Given the description of an element on the screen output the (x, y) to click on. 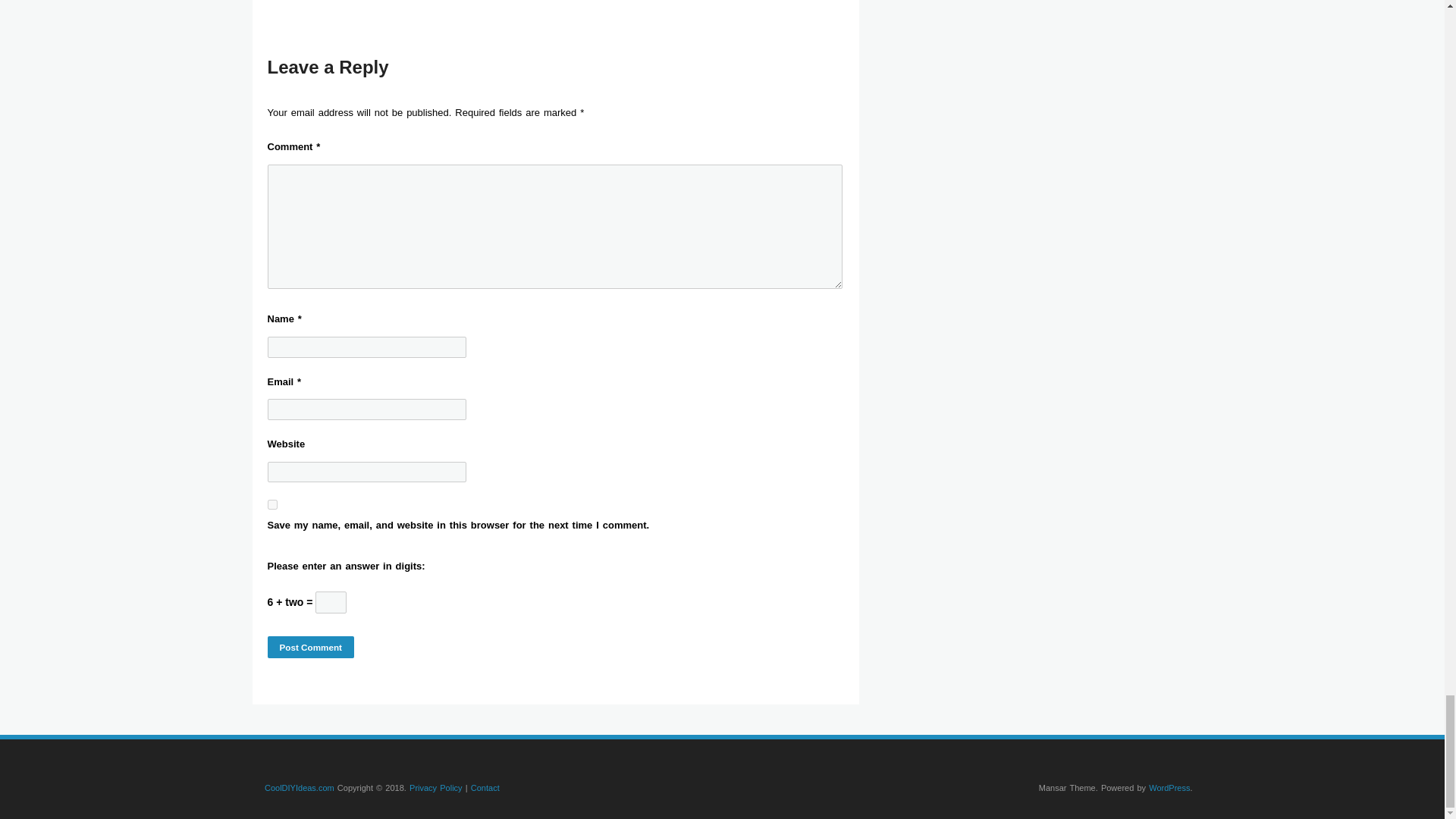
Post Comment (309, 647)
yes (271, 504)
Post Comment (309, 647)
